Given the description of an element on the screen output the (x, y) to click on. 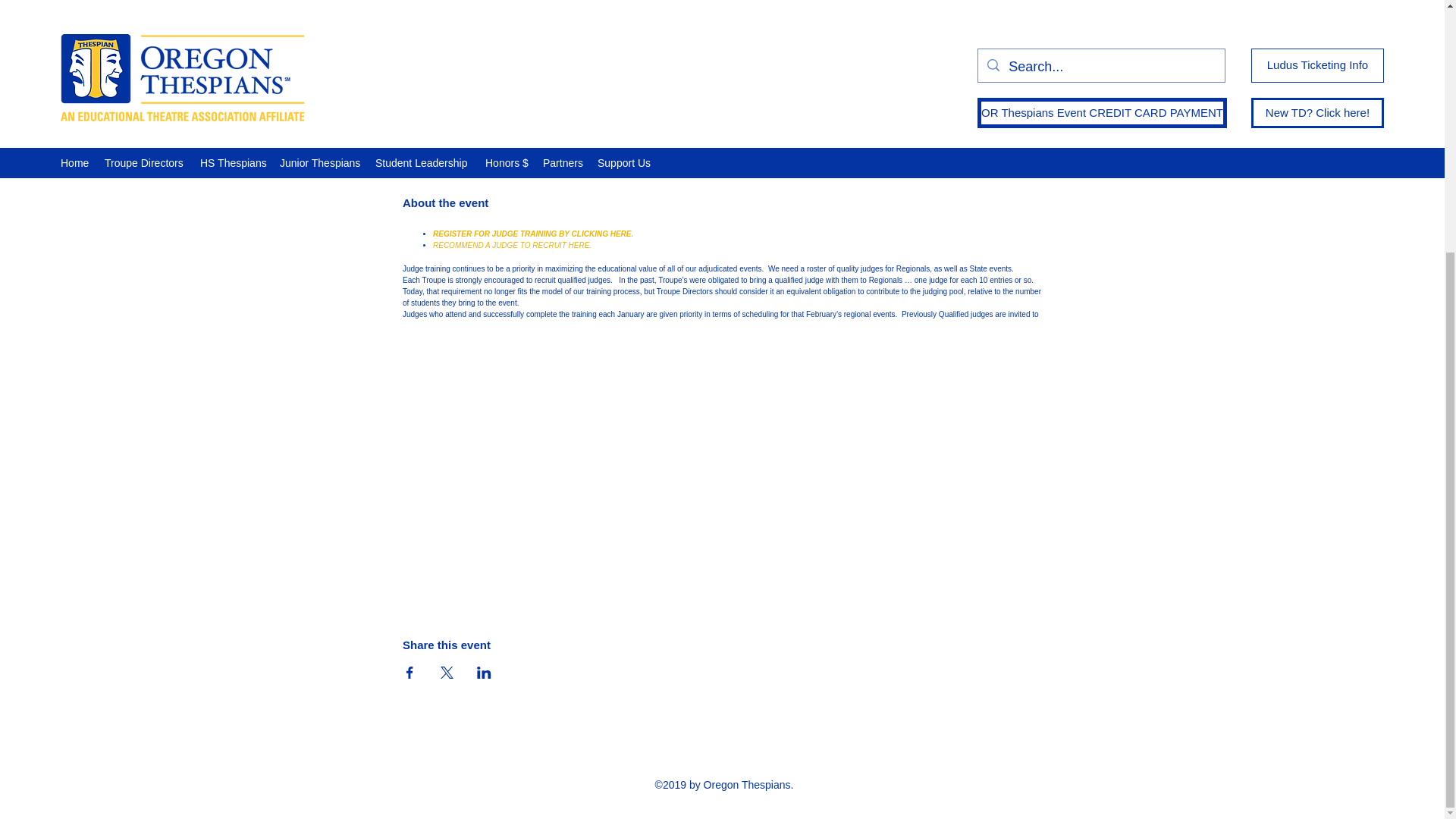
REGISTER FOR JUDGE TRAINING BY CLICKING HERE. (532, 234)
See other events (722, 0)
RECOMMEND A JUDGE TO RECRUIT HERE. (511, 244)
